Given the description of an element on the screen output the (x, y) to click on. 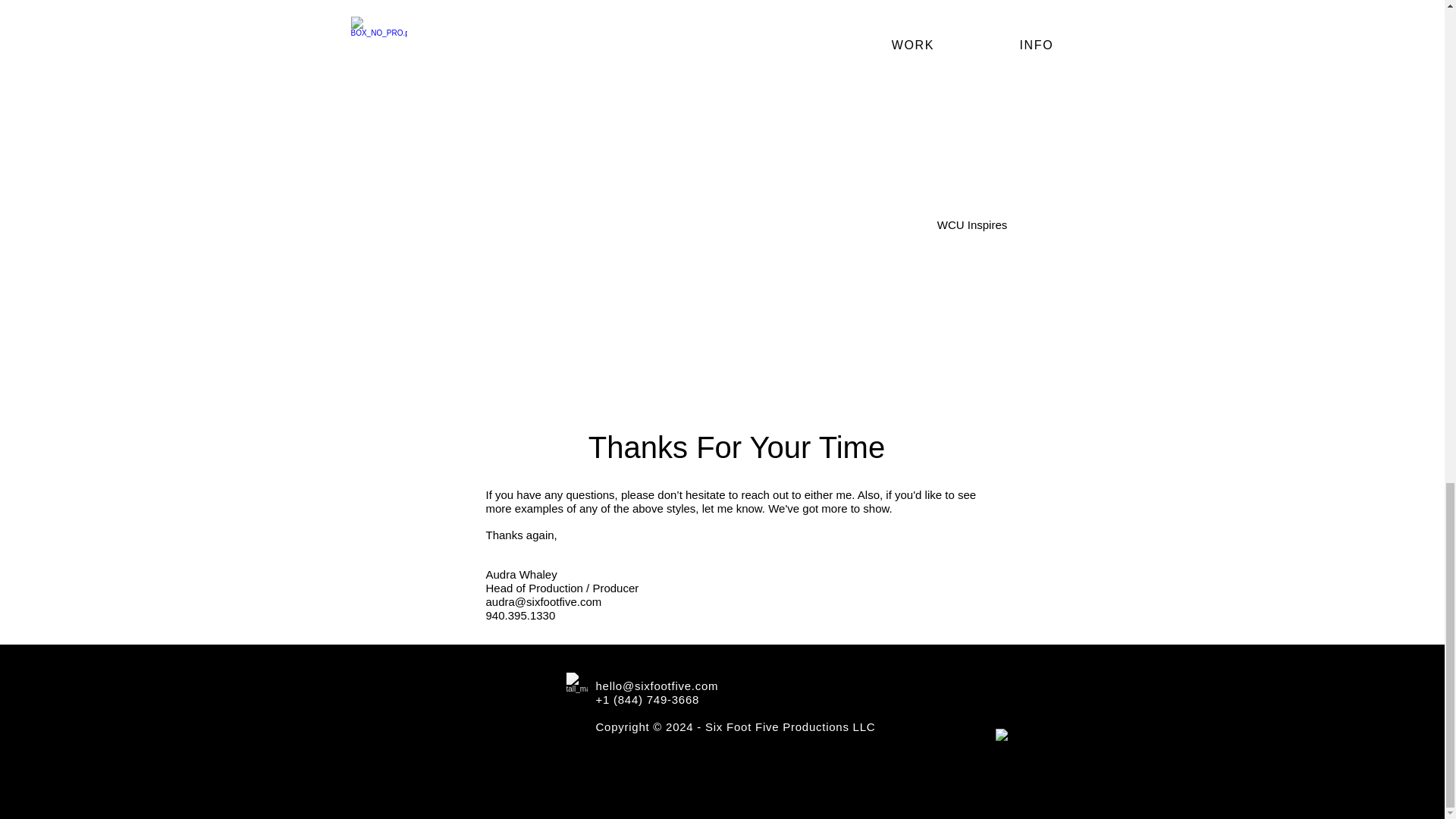
External Vimeo (796, 35)
